Given the description of an element on the screen output the (x, y) to click on. 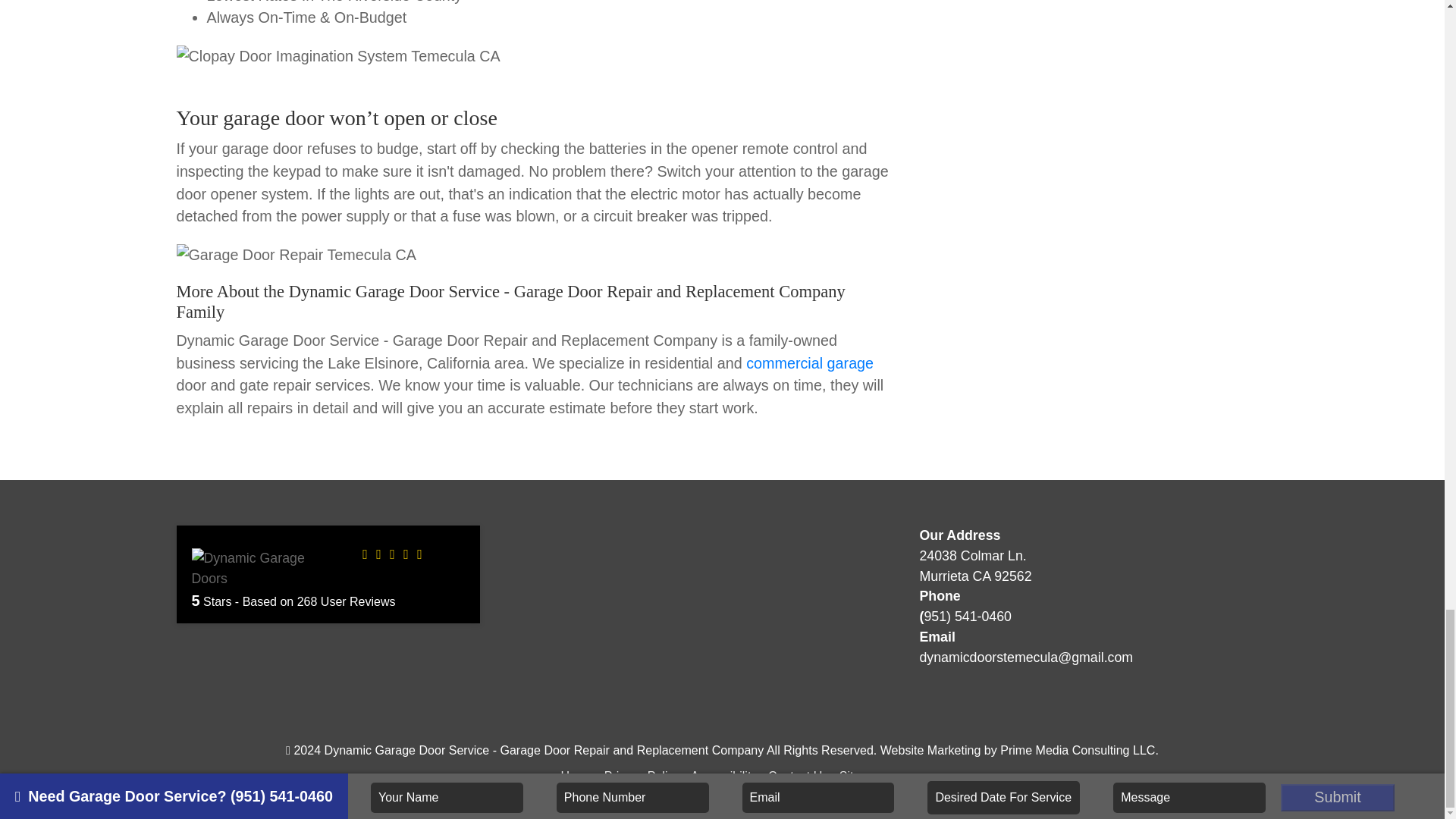
Contact Us (798, 775)
commercial garage (809, 362)
Sitemap (861, 775)
Privacy Policy (641, 775)
268 User Reviews (346, 601)
Prime Media Consulting LLC (1077, 749)
Home (576, 775)
Accessibility (723, 775)
